Given the description of an element on the screen output the (x, y) to click on. 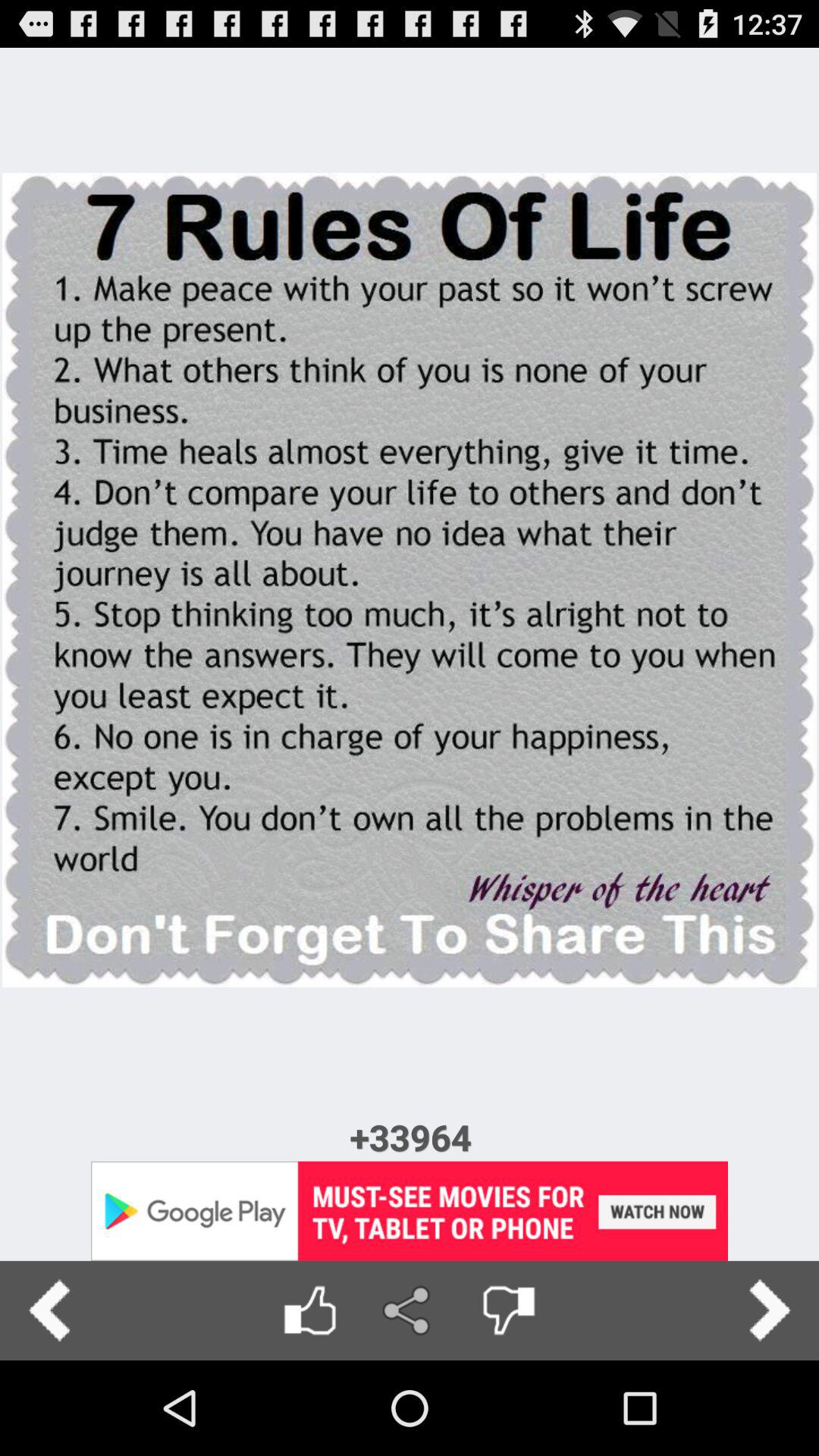
share option (408, 1310)
